Given the description of an element on the screen output the (x, y) to click on. 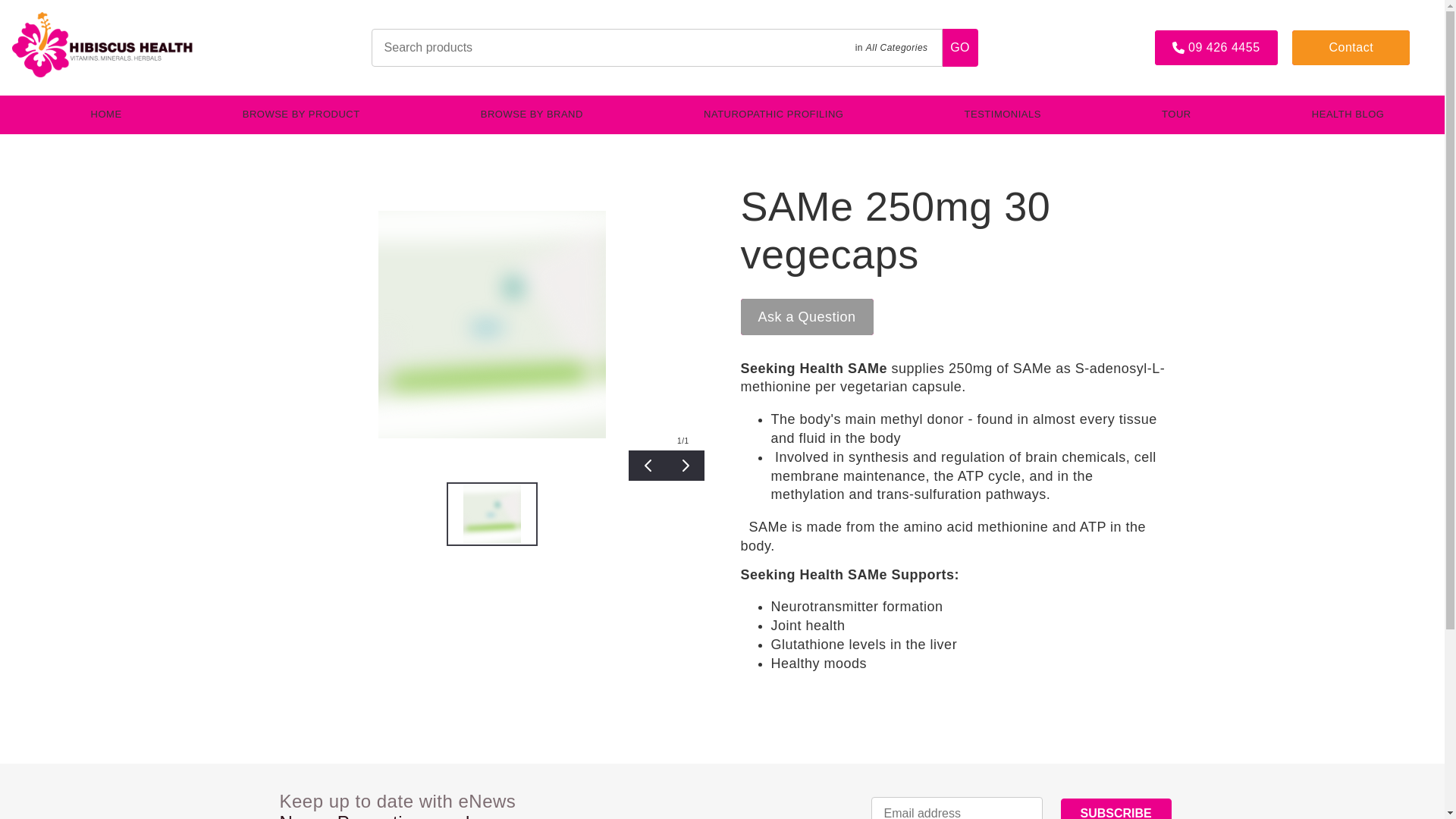
GO (960, 47)
SUBSCRIBE (1114, 808)
09 426 4455 (1215, 48)
BROWSE BY PRODUCT (301, 114)
Give us a call (1215, 48)
TESTIMONIALS (1003, 114)
Ask a Question (805, 316)
BROWSE BY BRAND (531, 114)
HOME (106, 114)
Contact (1350, 47)
NATUROPATHIC PROFILING (773, 114)
TOUR (1175, 114)
